Given the description of an element on the screen output the (x, y) to click on. 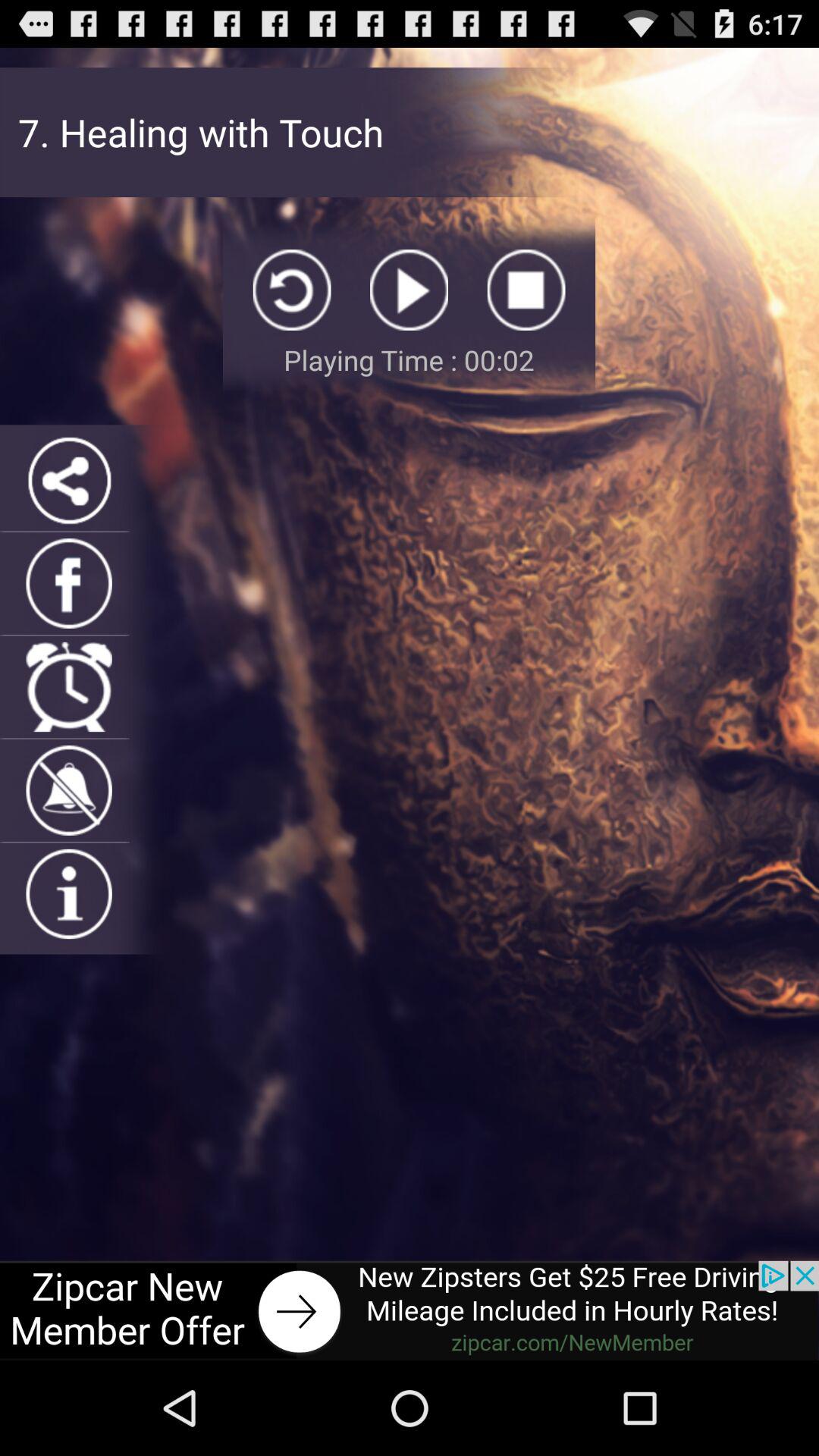
tap for more information (69, 894)
